Given the description of an element on the screen output the (x, y) to click on. 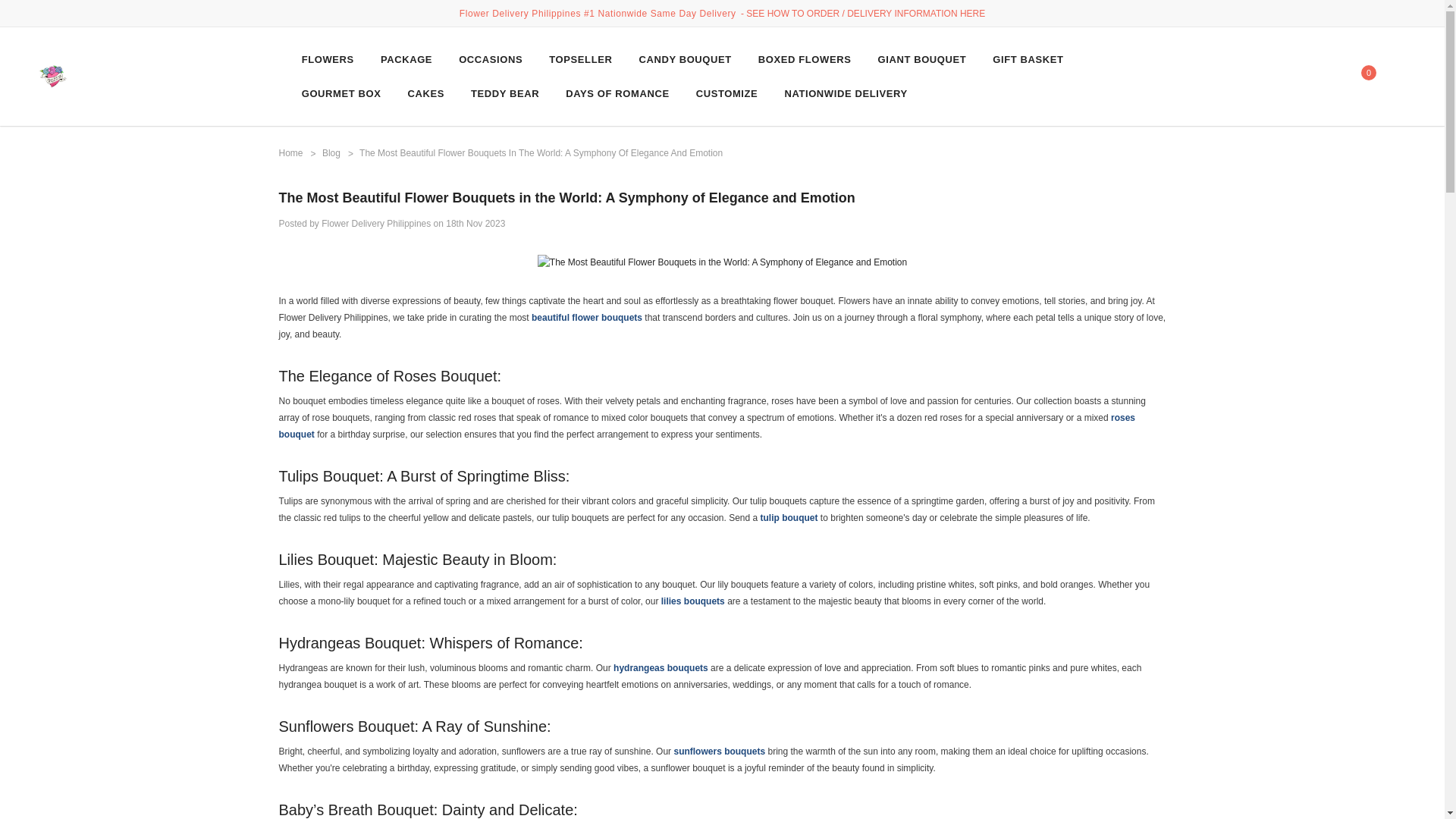
Flower Delivery Philippines (52, 76)
OCCASIONS (490, 59)
FLOWERS (327, 59)
PACKAGE (406, 59)
